Given the description of an element on the screen output the (x, y) to click on. 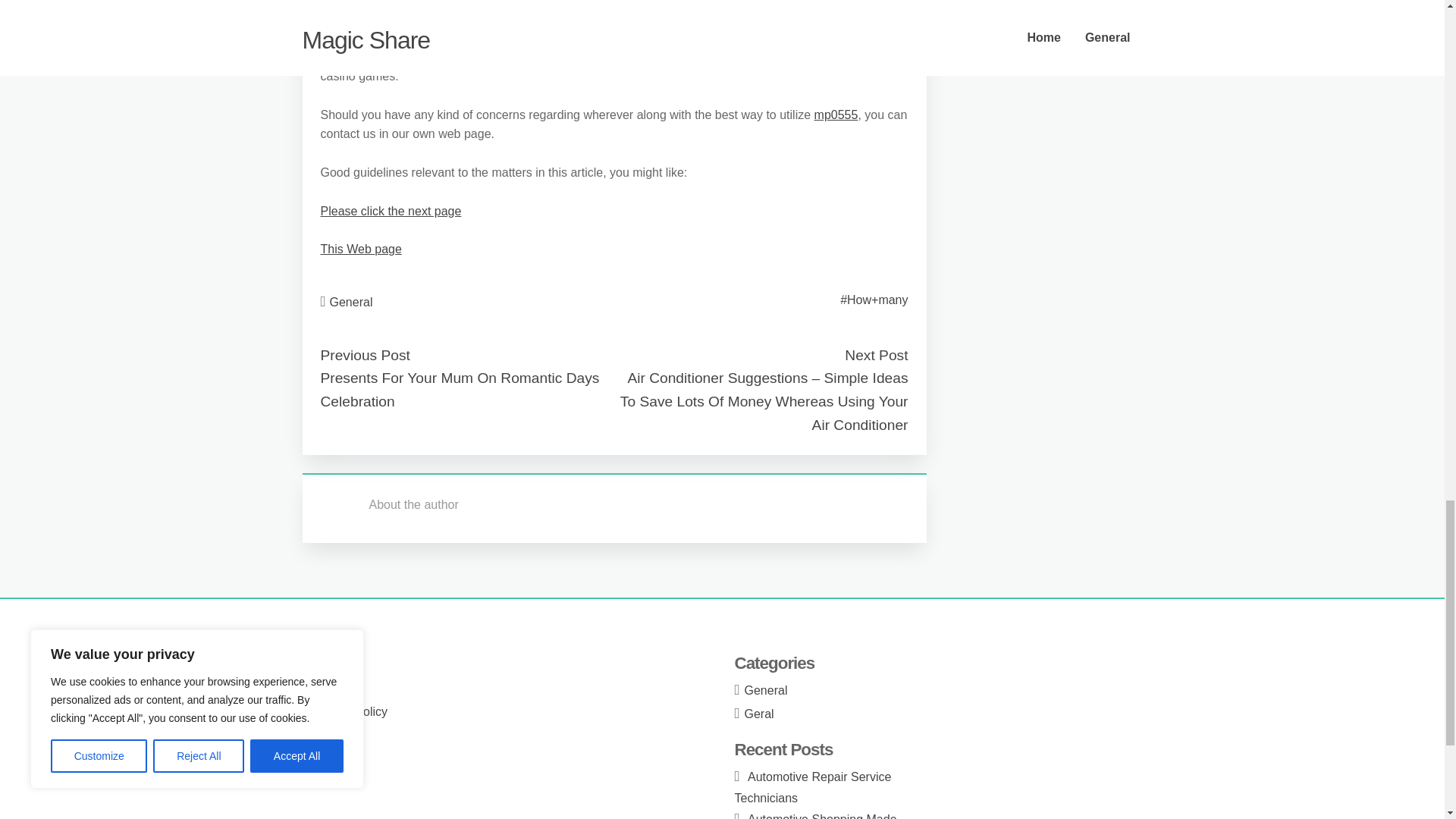
This Web page (360, 248)
General (351, 301)
Previous Post (364, 355)
Please click the next page (390, 210)
mp0555 (836, 114)
Next Post (875, 355)
Presents For Your Mum On Romantic Days Celebration (459, 389)
